Given the description of an element on the screen output the (x, y) to click on. 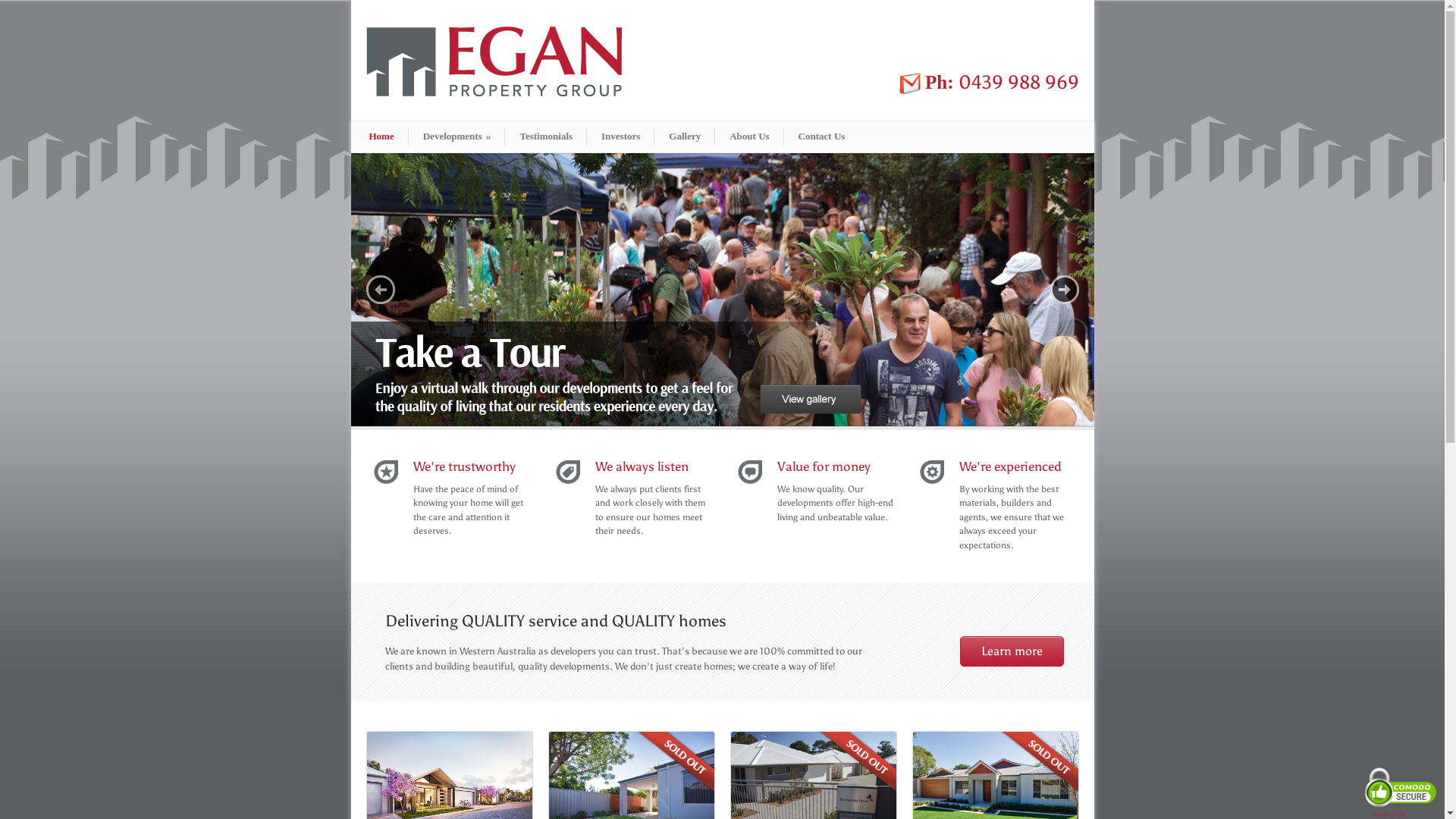
Contact Us Element type: text (821, 136)
Home Element type: text (381, 136)
About Us Element type: text (749, 136)
Investors Element type: text (620, 136)
Testimonials Element type: text (545, 136)
Next Element type: text (1063, 289)
Previous Element type: text (379, 289)
Gallery Element type: text (684, 136)
Learn more Element type: text (1011, 651)
